Given the description of an element on the screen output the (x, y) to click on. 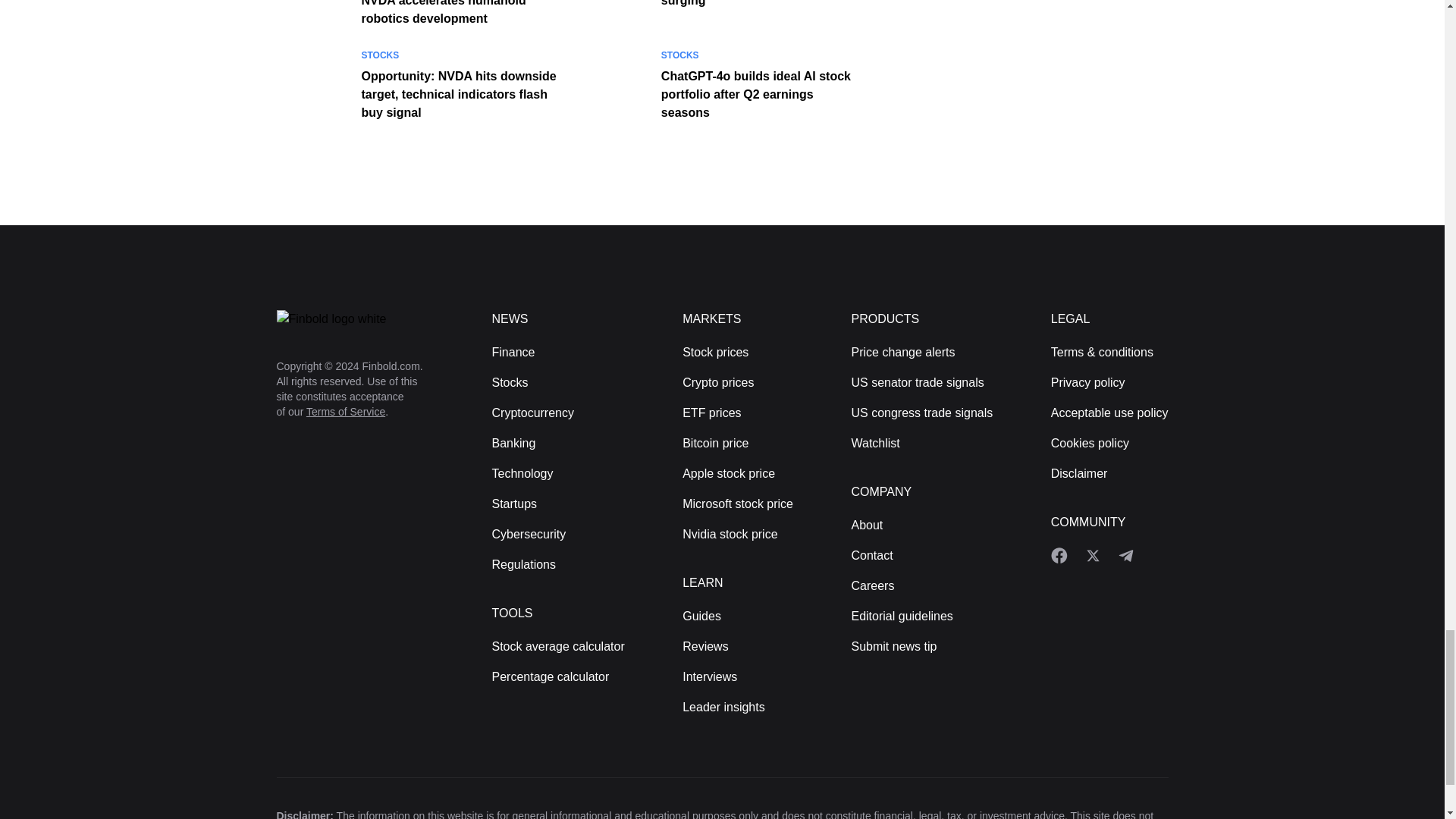
Finbold homepage (359, 319)
